Given the description of an element on the screen output the (x, y) to click on. 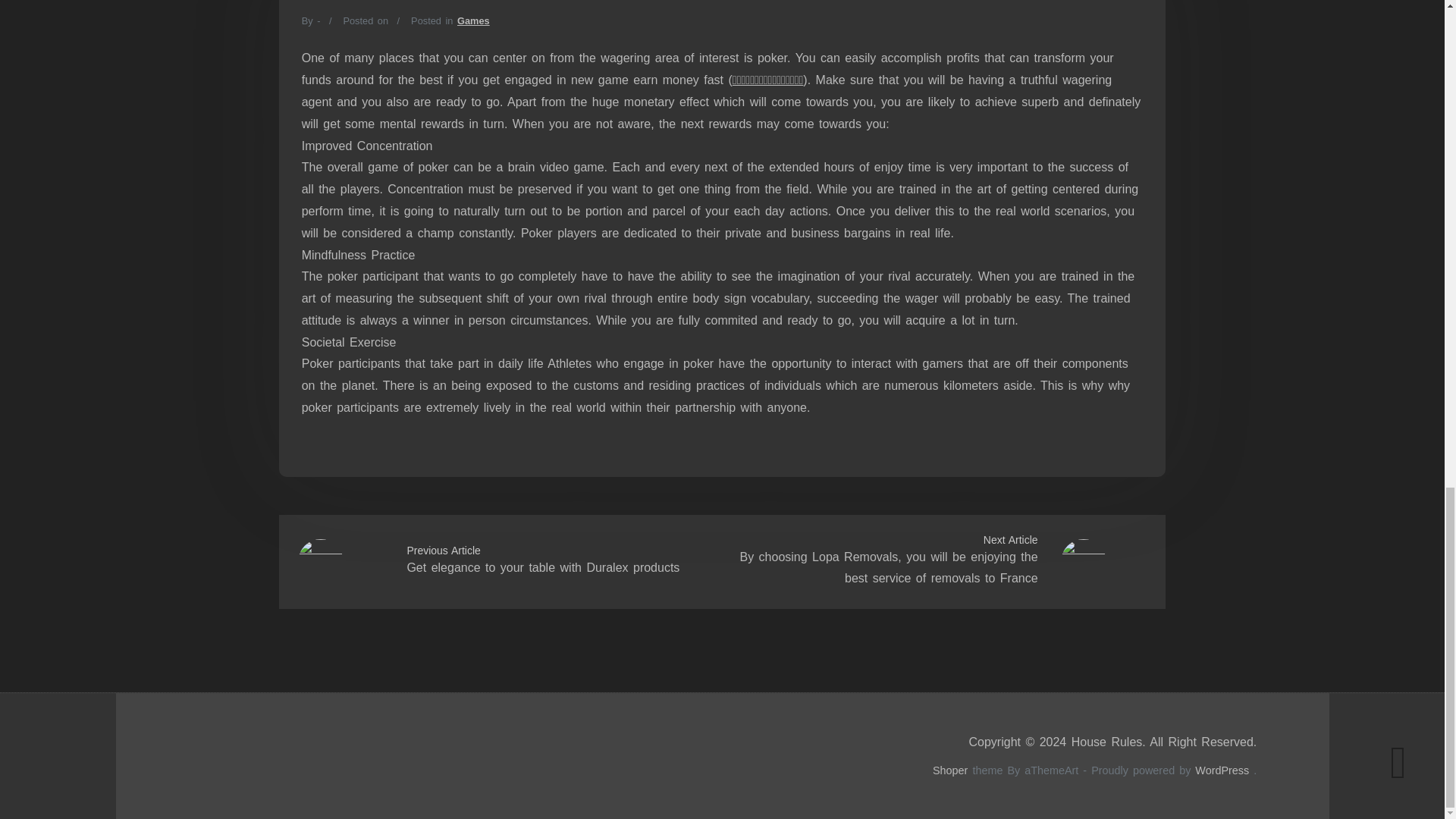
Shoper (950, 770)
WordPress (1222, 770)
Get elegance to your table with Duralex products (542, 567)
Games (473, 20)
